Given the description of an element on the screen output the (x, y) to click on. 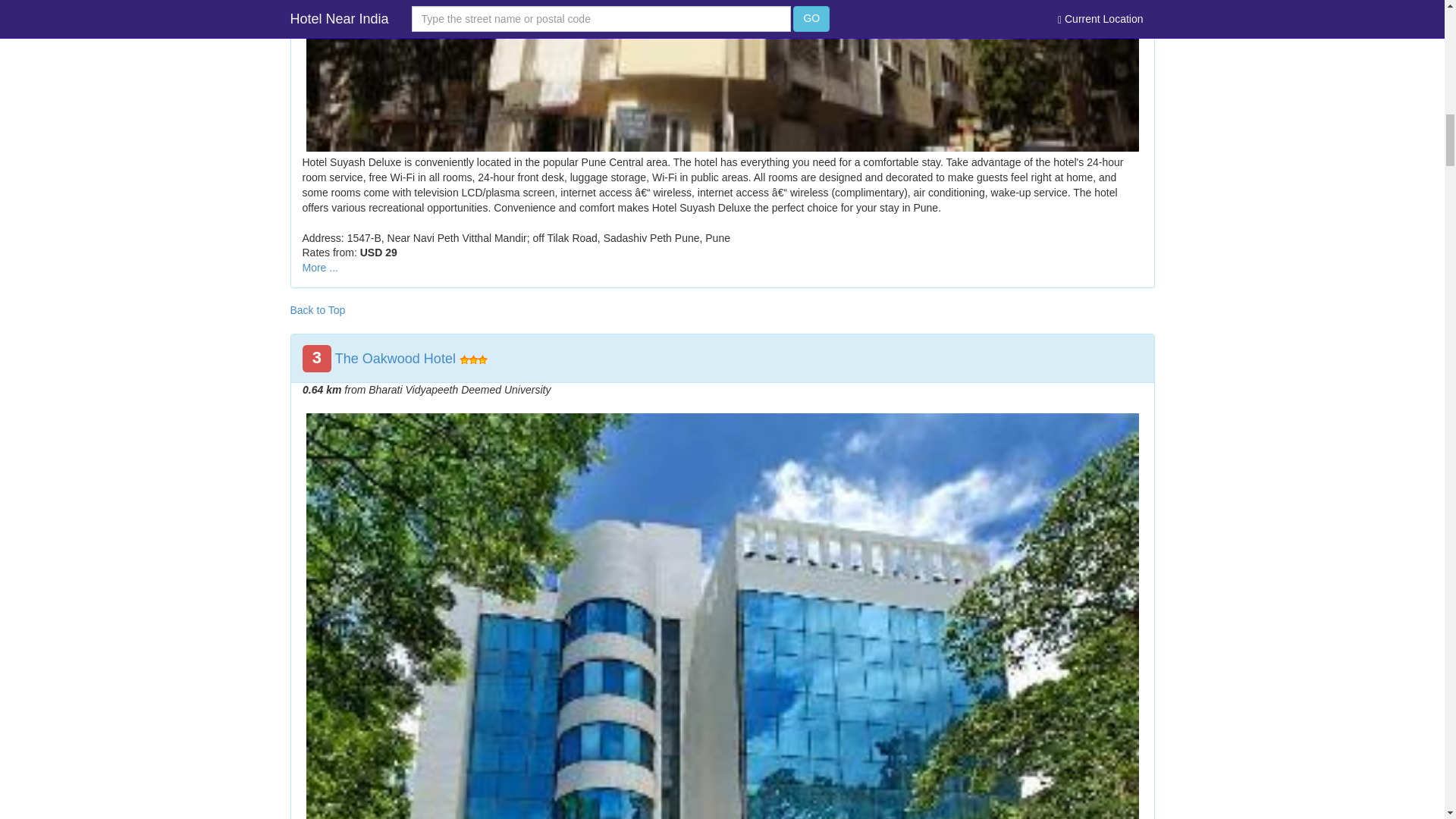
More ... (319, 267)
Back to Top (317, 309)
The Oakwood Hotel (394, 358)
